Given the description of an element on the screen output the (x, y) to click on. 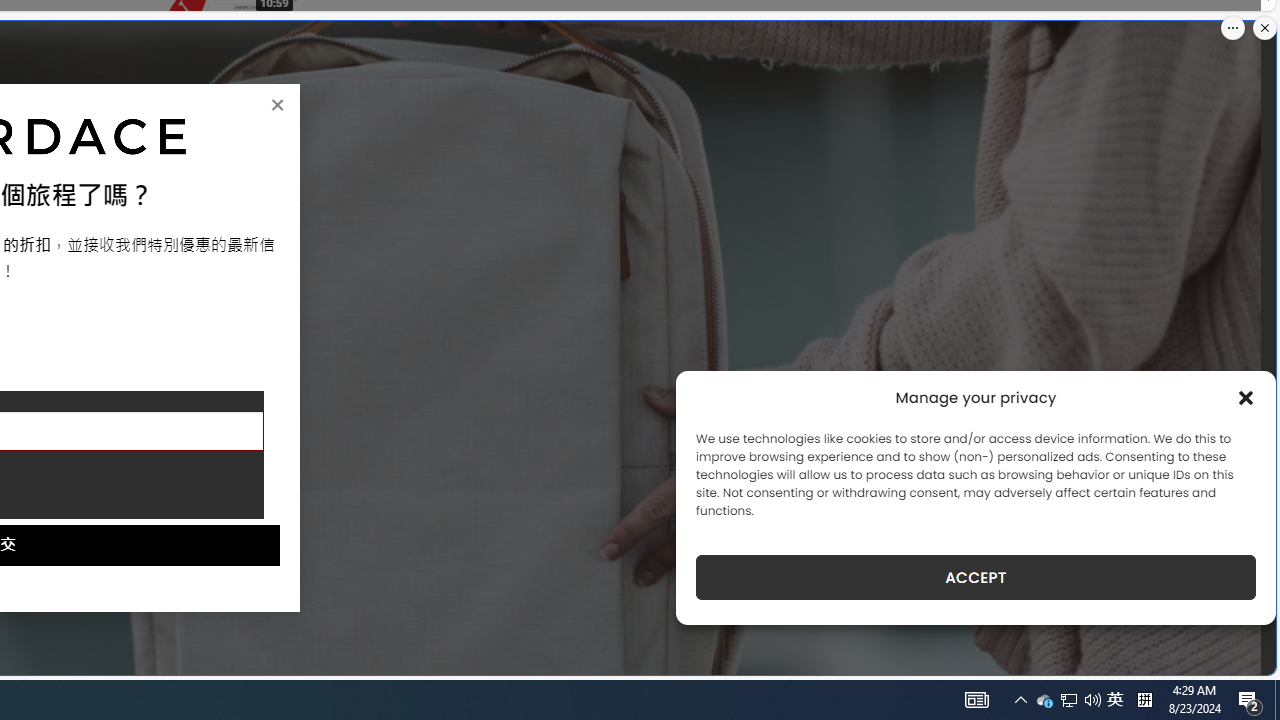
Class: cmplz-close (1245, 398)
ACCEPT (975, 577)
More options. (1233, 27)
